Given the description of an element on the screen output the (x, y) to click on. 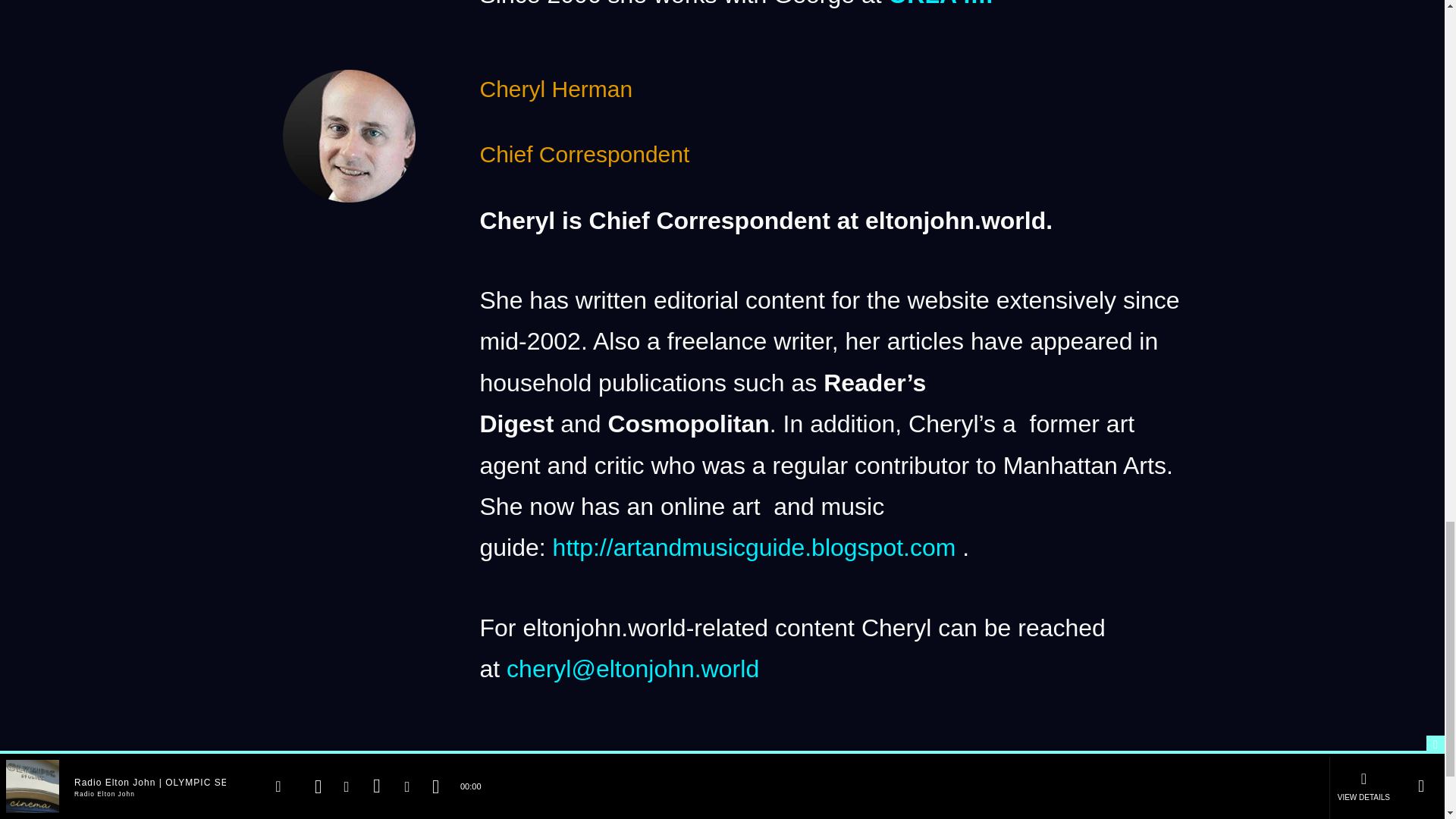
ORLA fm (939, 4)
